Given the description of an element on the screen output the (x, y) to click on. 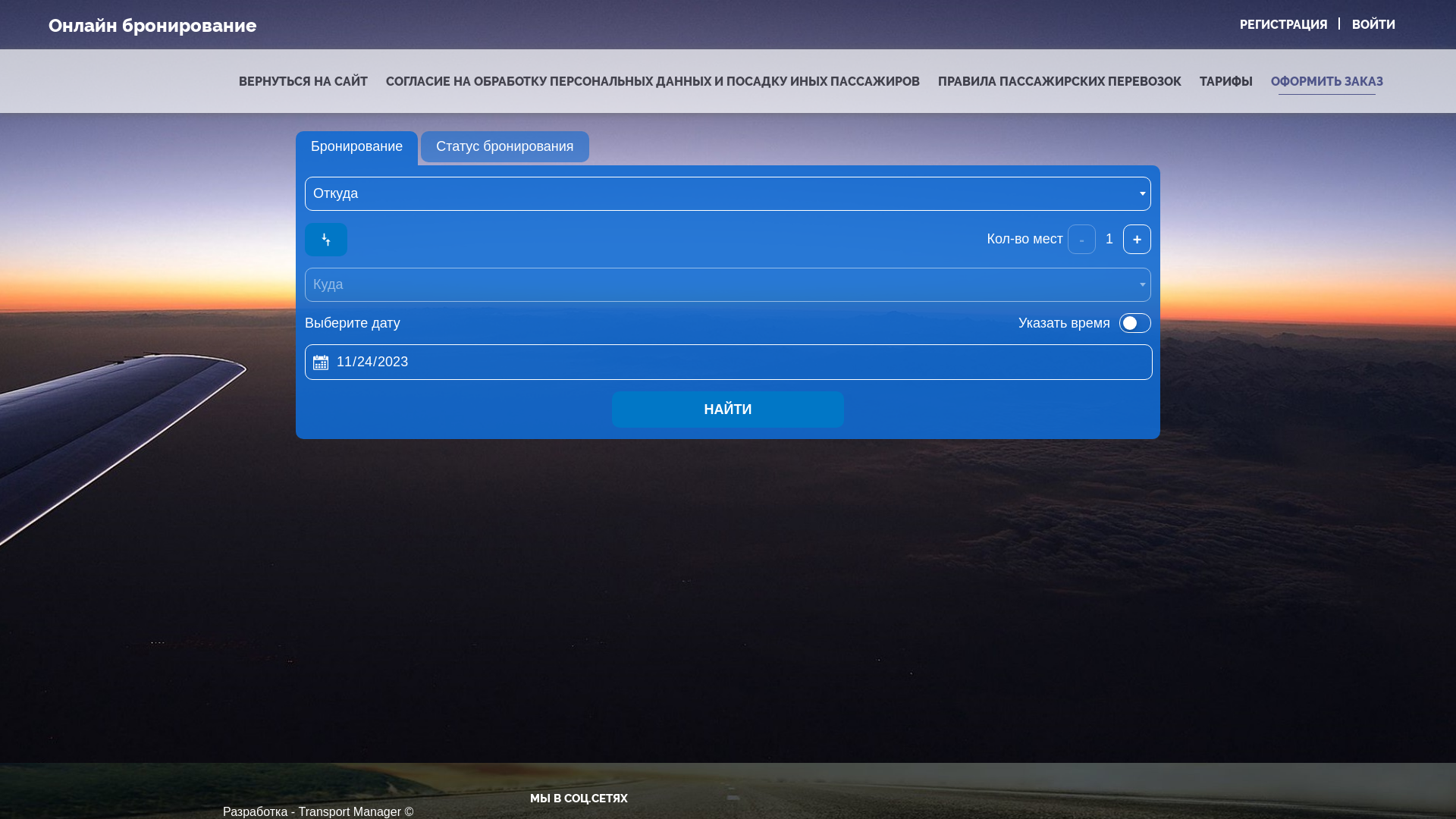
Transport Manager Element type: text (349, 811)
